Given the description of an element on the screen output the (x, y) to click on. 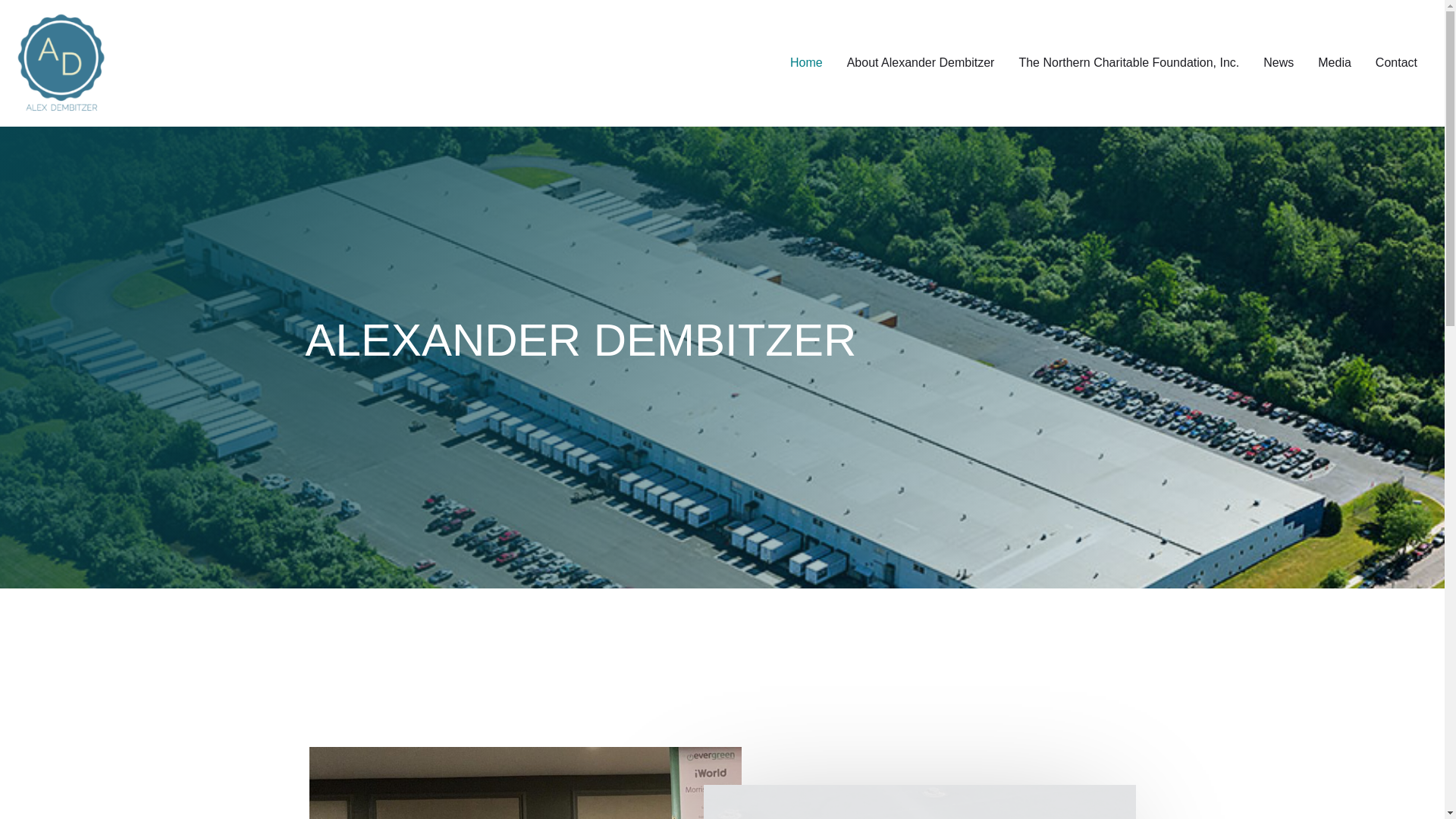
Contact (1395, 62)
News (1278, 62)
About Alexander Dembitzer (920, 62)
The Northern Charitable Foundation, Inc. (1128, 62)
Media (1334, 62)
Home (805, 62)
